Given the description of an element on the screen output the (x, y) to click on. 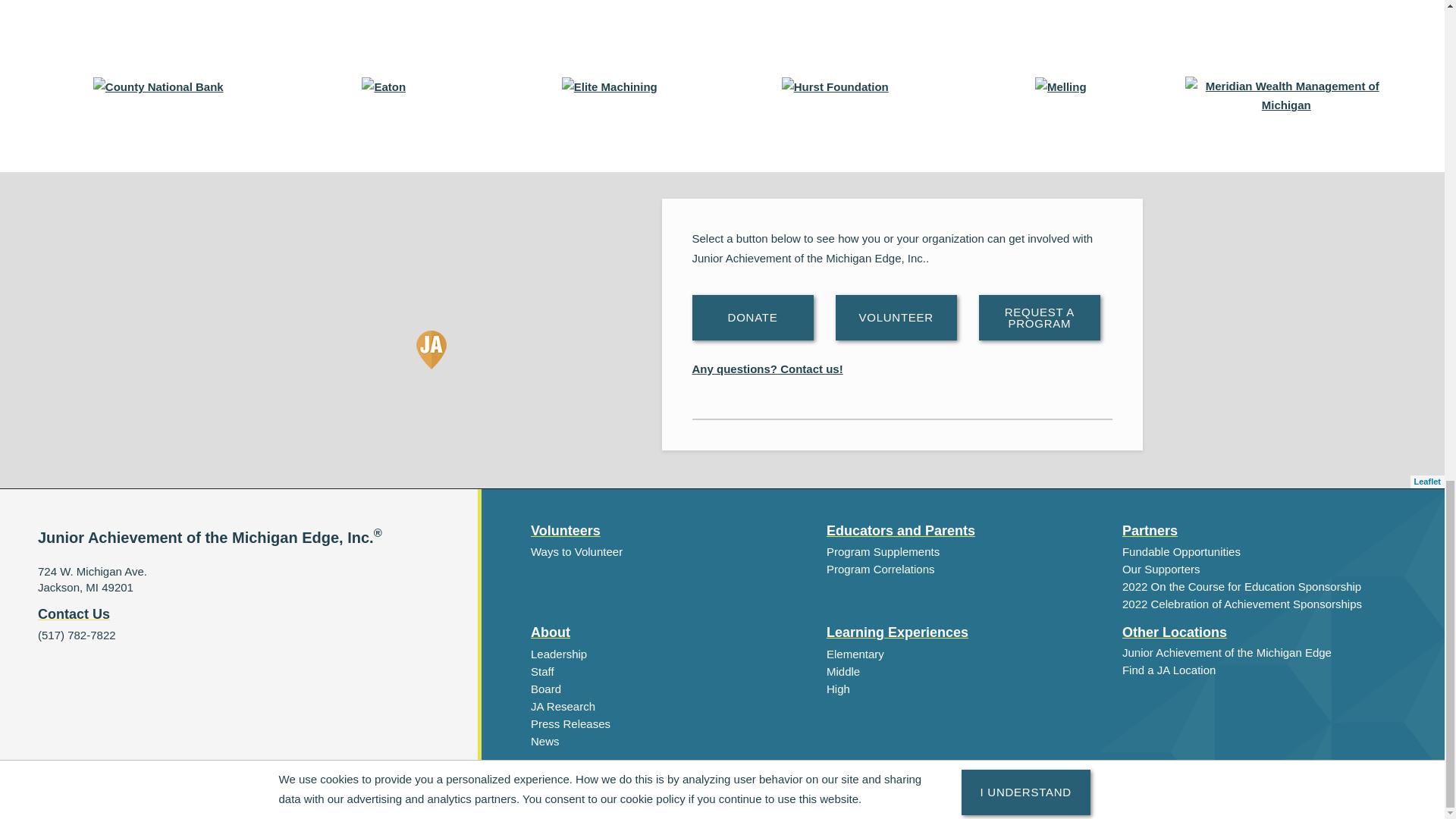
DONATE (751, 317)
Leaflet (1427, 481)
VOLUNTEER (895, 317)
REQUEST A PROGRAM (1039, 317)
